Given the description of an element on the screen output the (x, y) to click on. 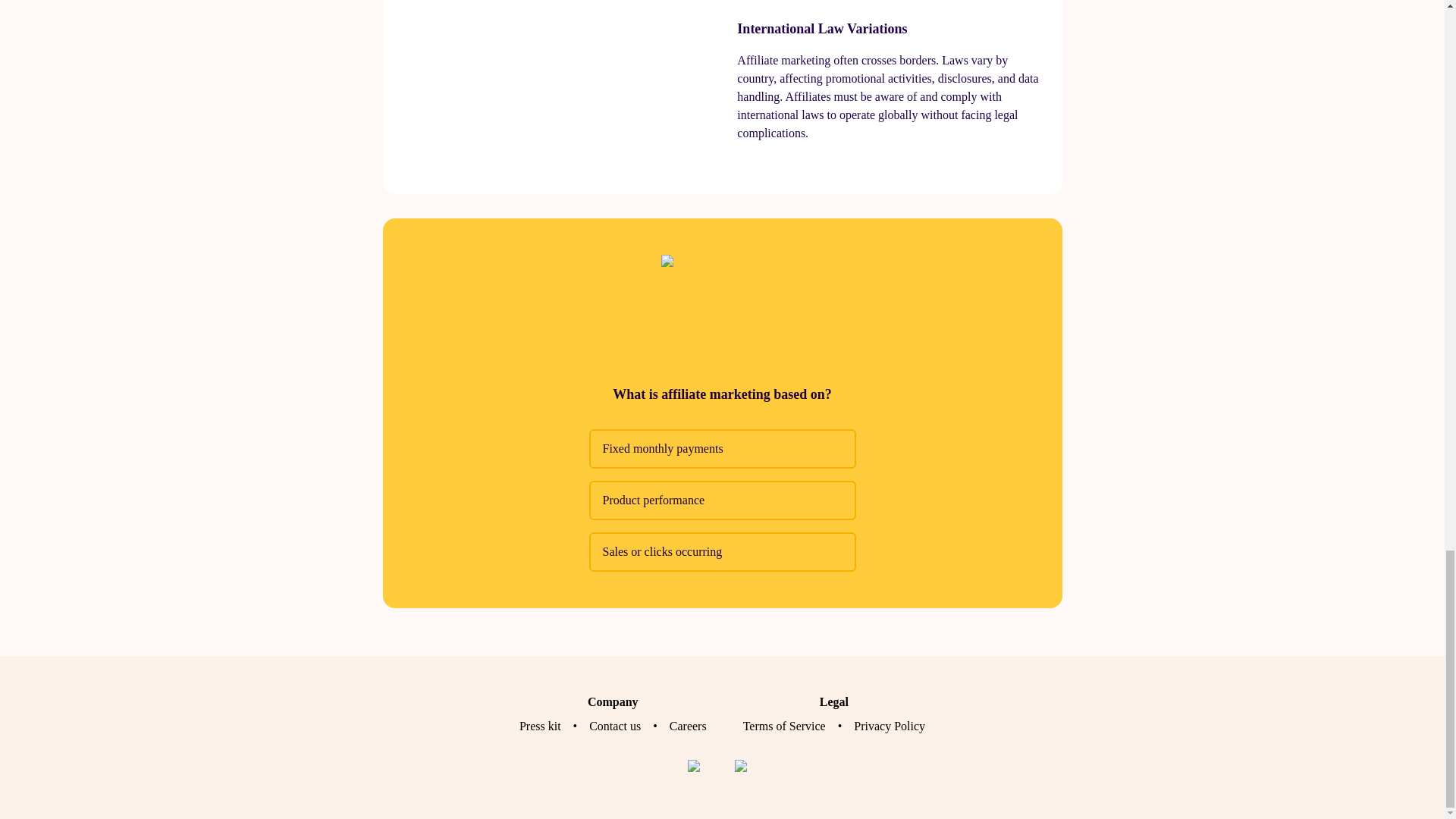
Terms of Service (783, 725)
Contact us (614, 725)
Privacy Policy (888, 725)
Press kit (539, 725)
Careers (687, 725)
